Given the description of an element on the screen output the (x, y) to click on. 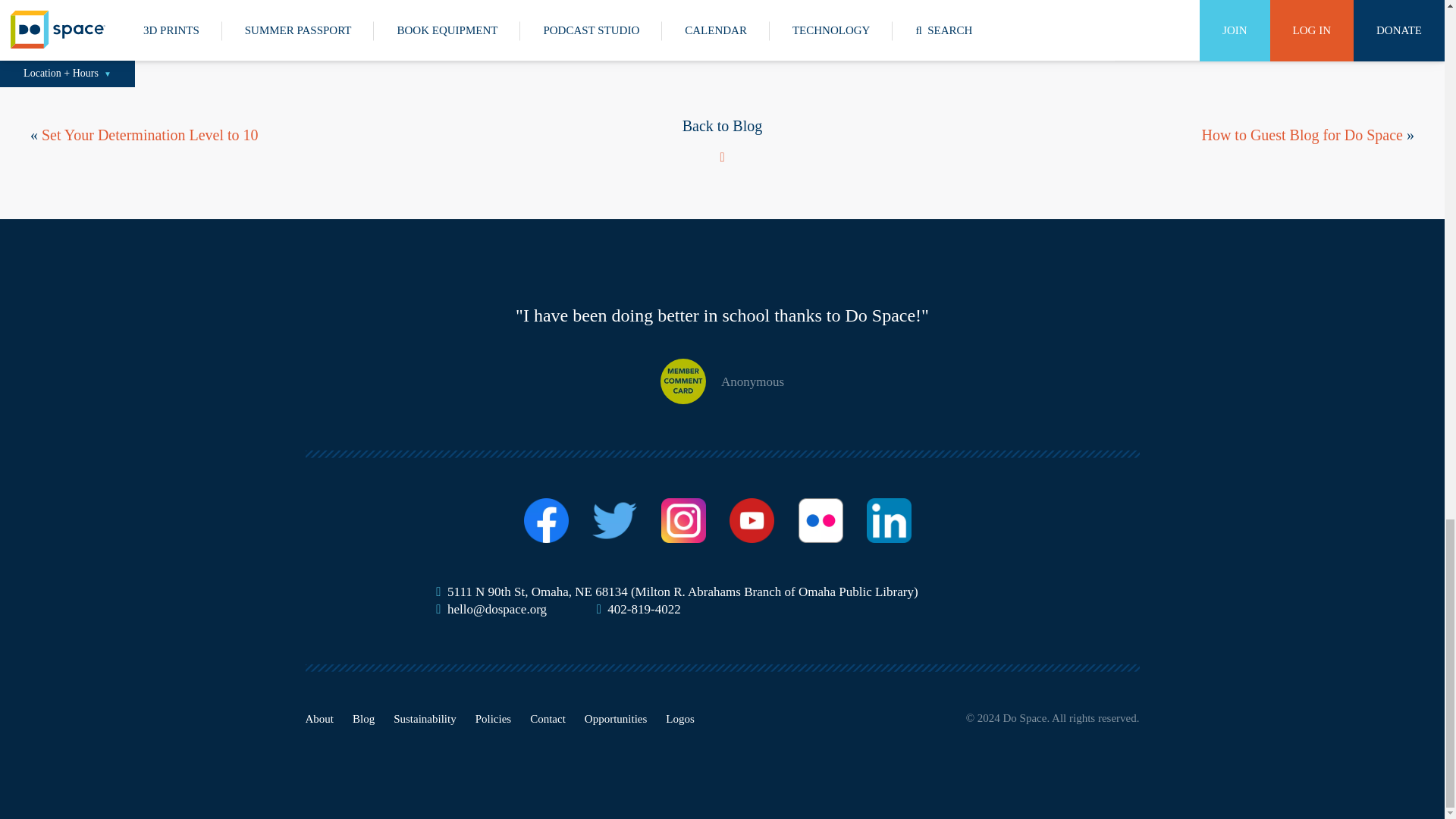
Contact (547, 718)
Policies (494, 718)
About (318, 718)
Opportunities (616, 718)
Logos (679, 718)
Sustainability (425, 718)
Set Your Determination Level to 10 (150, 134)
Blog (363, 718)
Back to Blog (722, 139)
How to Guest Blog for Do Space (1302, 134)
